Given the description of an element on the screen output the (x, y) to click on. 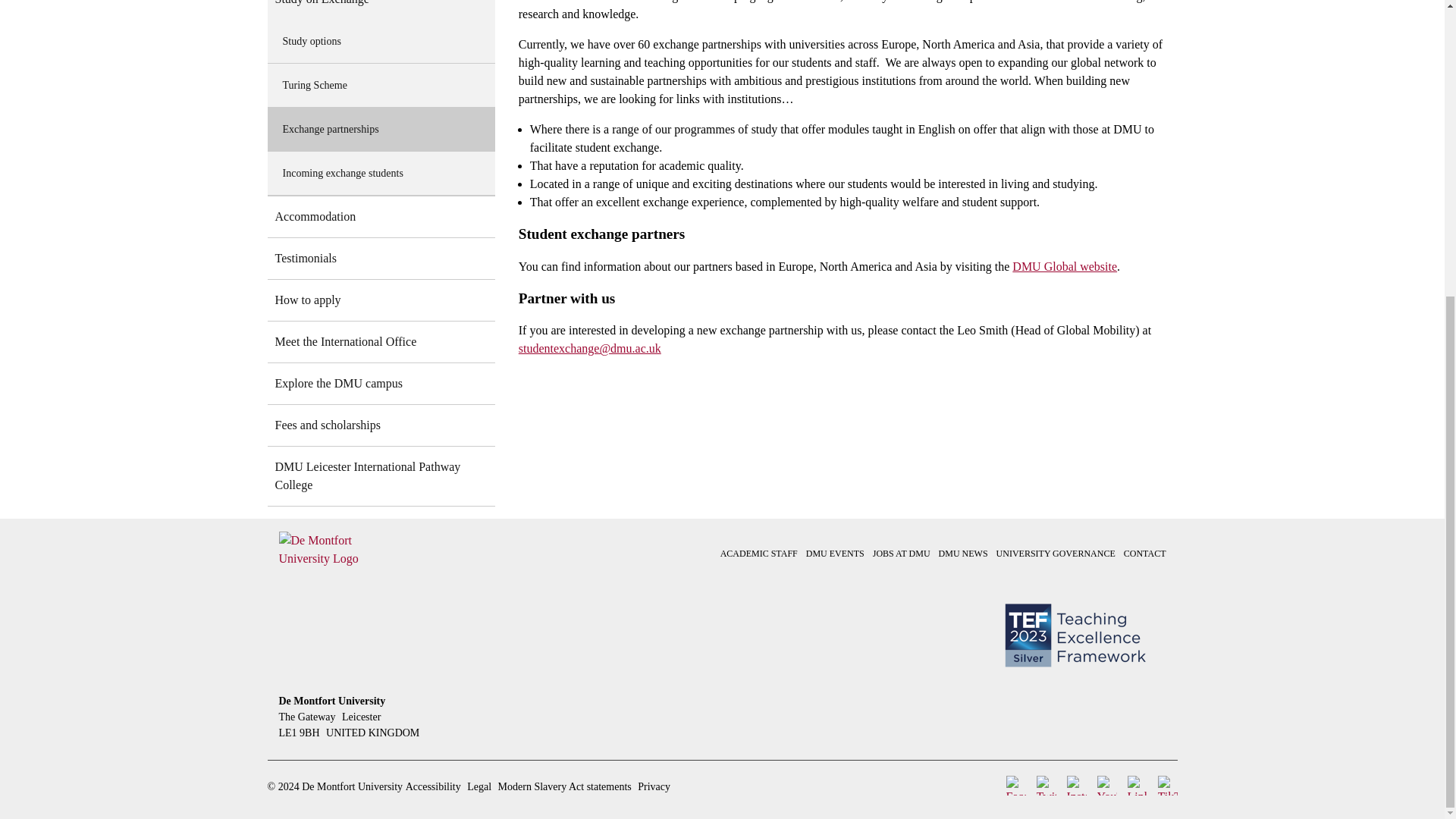
Navigate to How to apply from here (380, 300)
Navigate to Incoming exchange students from here (380, 172)
Navigate to Testimonials from here (380, 258)
Navigate to Exchange partnerships from here (380, 128)
Navigate to Meet the International Office from here (380, 341)
Navigate to Study on Exchange from here (380, 9)
Navigate to Accommodation from here (380, 216)
Navigate to Study options from here (380, 41)
Navigate to Turing Scheme from here (380, 85)
